Given the description of an element on the screen output the (x, y) to click on. 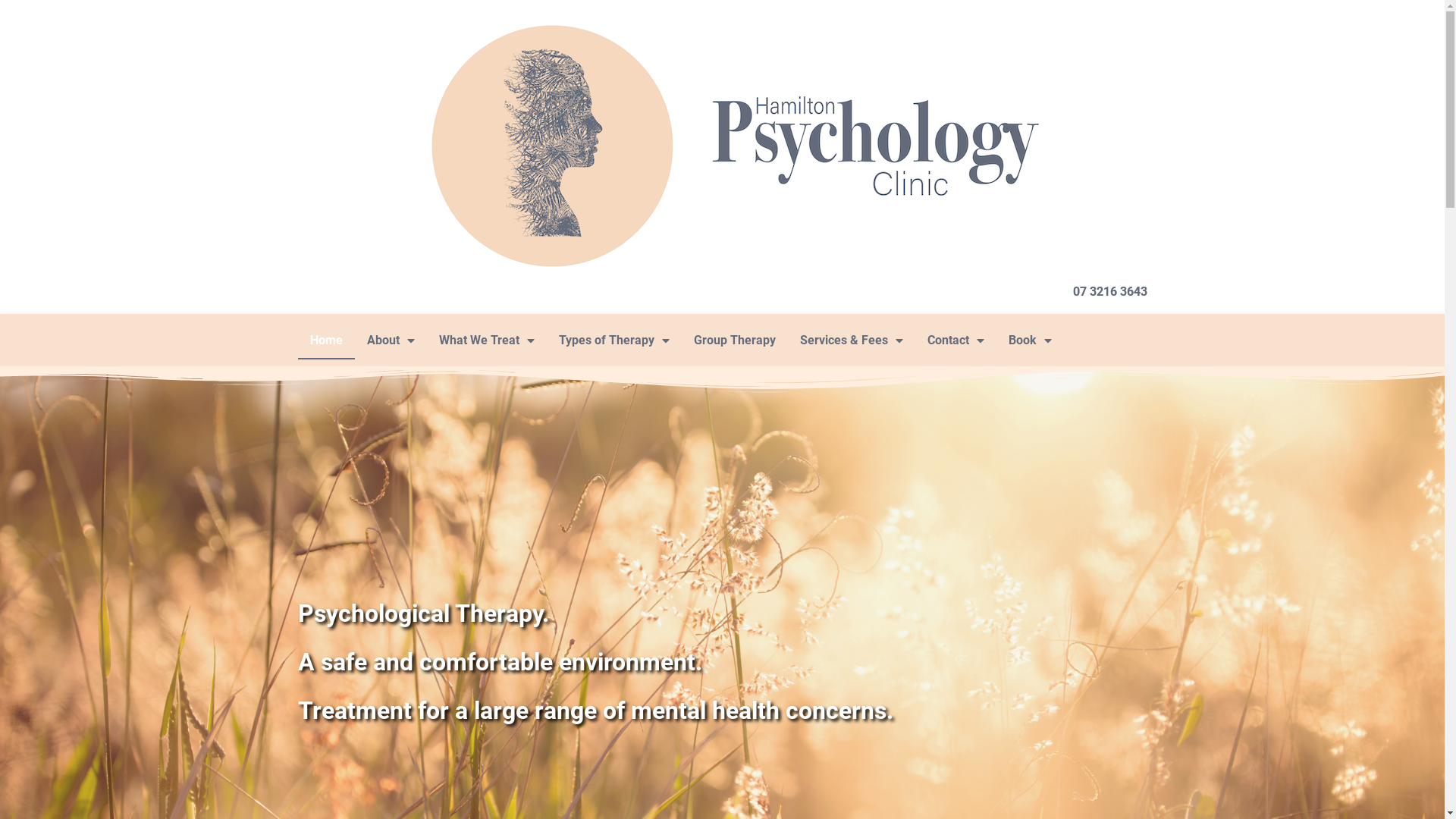
Types of Therapy Element type: text (613, 340)
Contact Element type: text (954, 340)
What We Treat Element type: text (486, 340)
Home Element type: text (325, 340)
Services & Fees Element type: text (850, 340)
Book Element type: text (1029, 340)
Group Therapy Element type: text (733, 340)
About Element type: text (390, 340)
07 3216 3643 Element type: text (1109, 291)
